Given the description of an element on the screen output the (x, y) to click on. 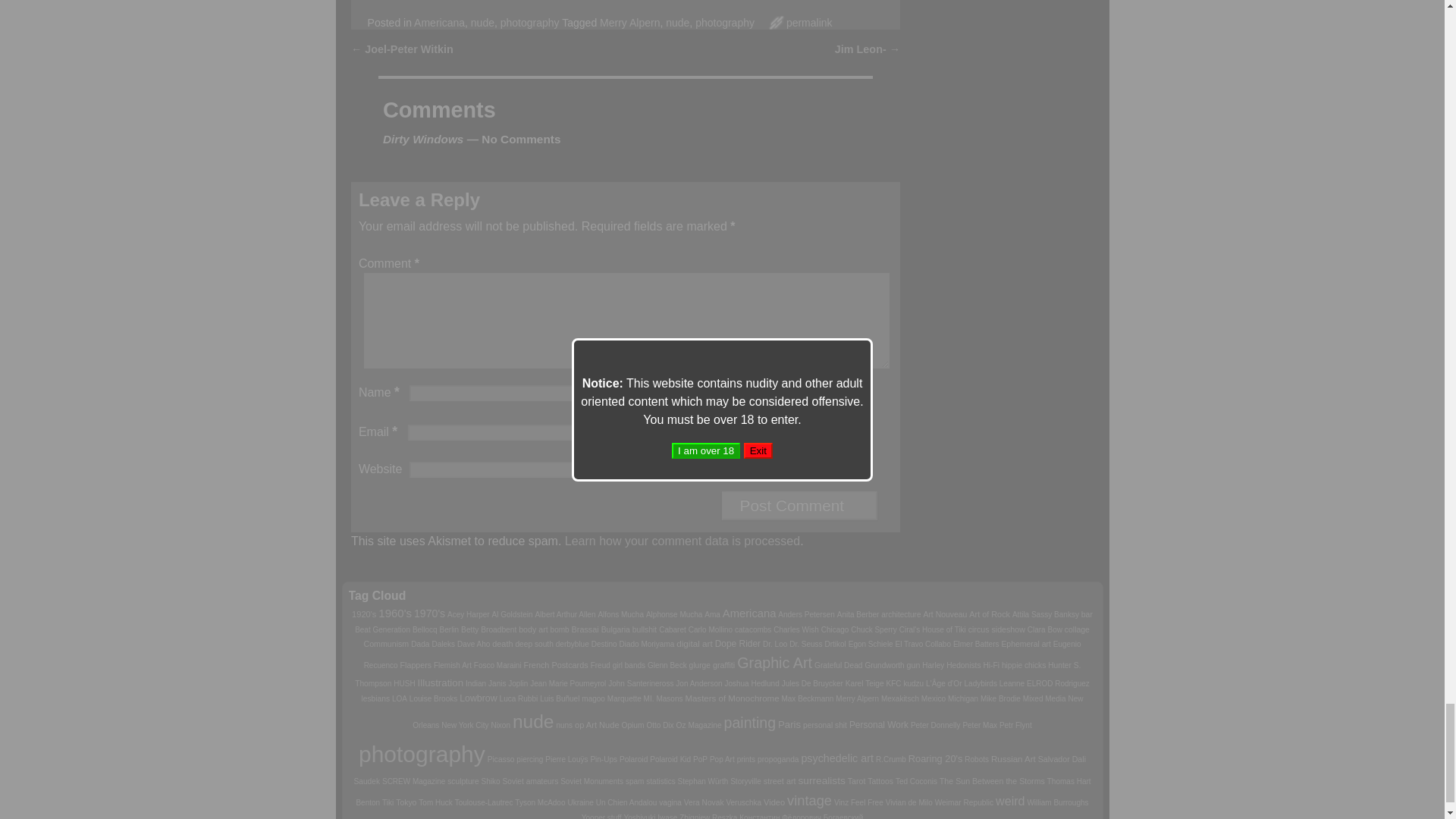
Post Comment (799, 505)
1 topic (467, 614)
6 topics (363, 614)
Permalink to Dirty Windows (809, 22)
20 topics (429, 613)
24 topics (395, 612)
1 topic (564, 614)
1 topic (512, 614)
1 topic (619, 614)
